Given the description of an element on the screen output the (x, y) to click on. 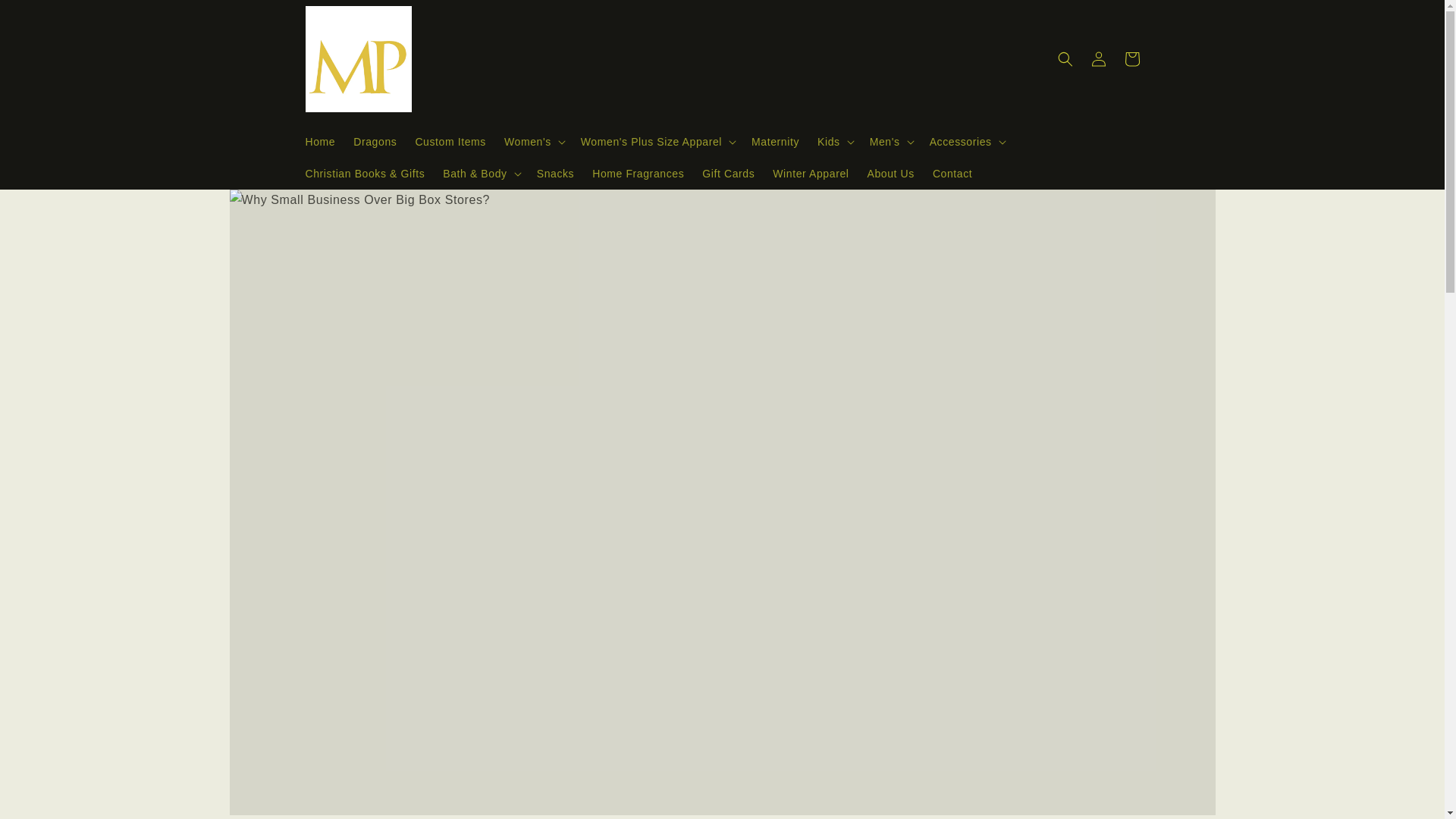
Skip to content (47, 18)
